Given the description of an element on the screen output the (x, y) to click on. 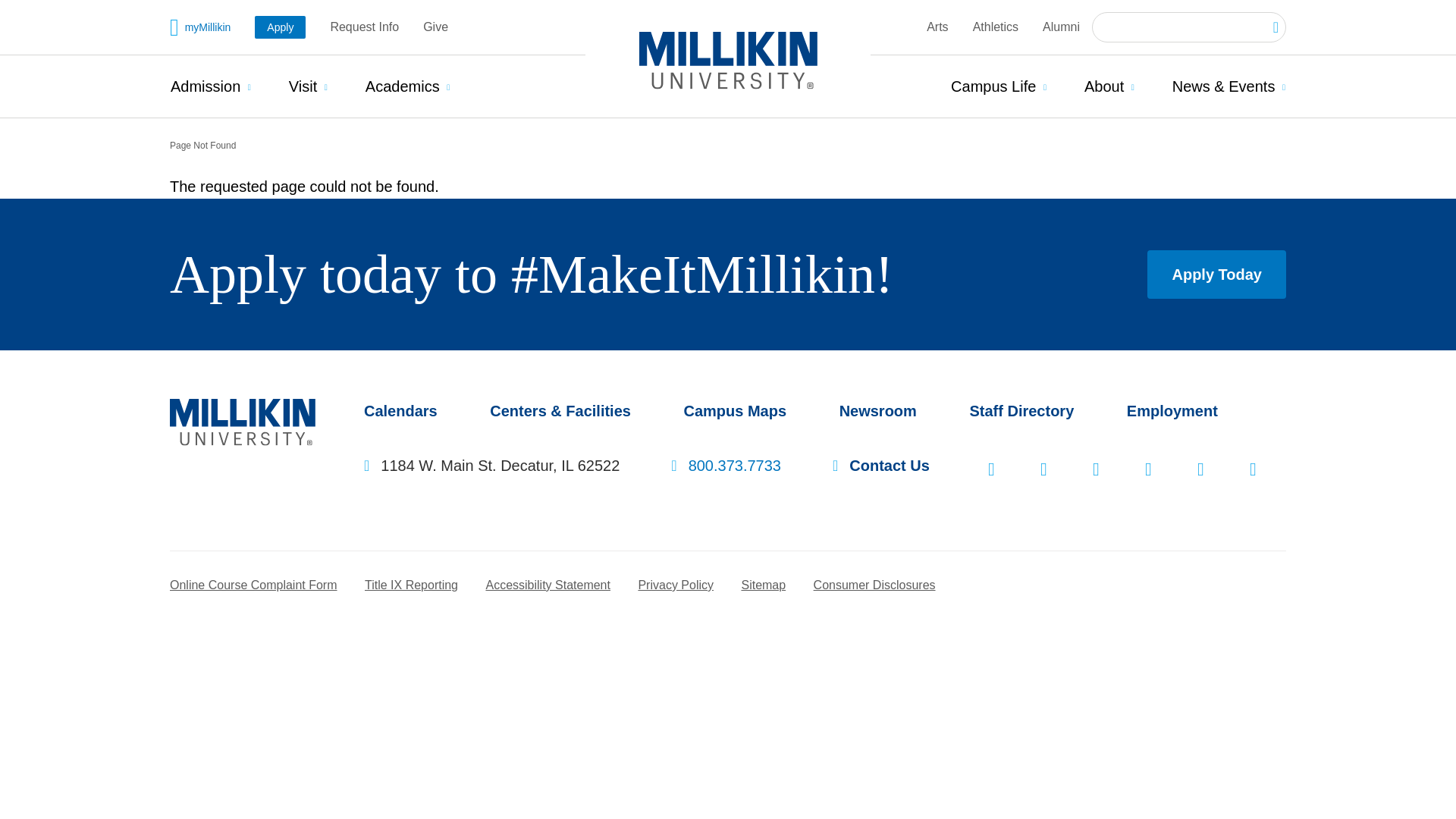
Home (727, 60)
Athletics (994, 26)
Request Info (364, 26)
Visit (307, 86)
Admission (210, 86)
Academics (407, 86)
Search (1269, 27)
Apply (279, 26)
Search (1269, 27)
myMillikin (200, 27)
Home (242, 440)
Alumni (1061, 26)
Campus Life (998, 86)
Arts (936, 26)
